Given the description of an element on the screen output the (x, y) to click on. 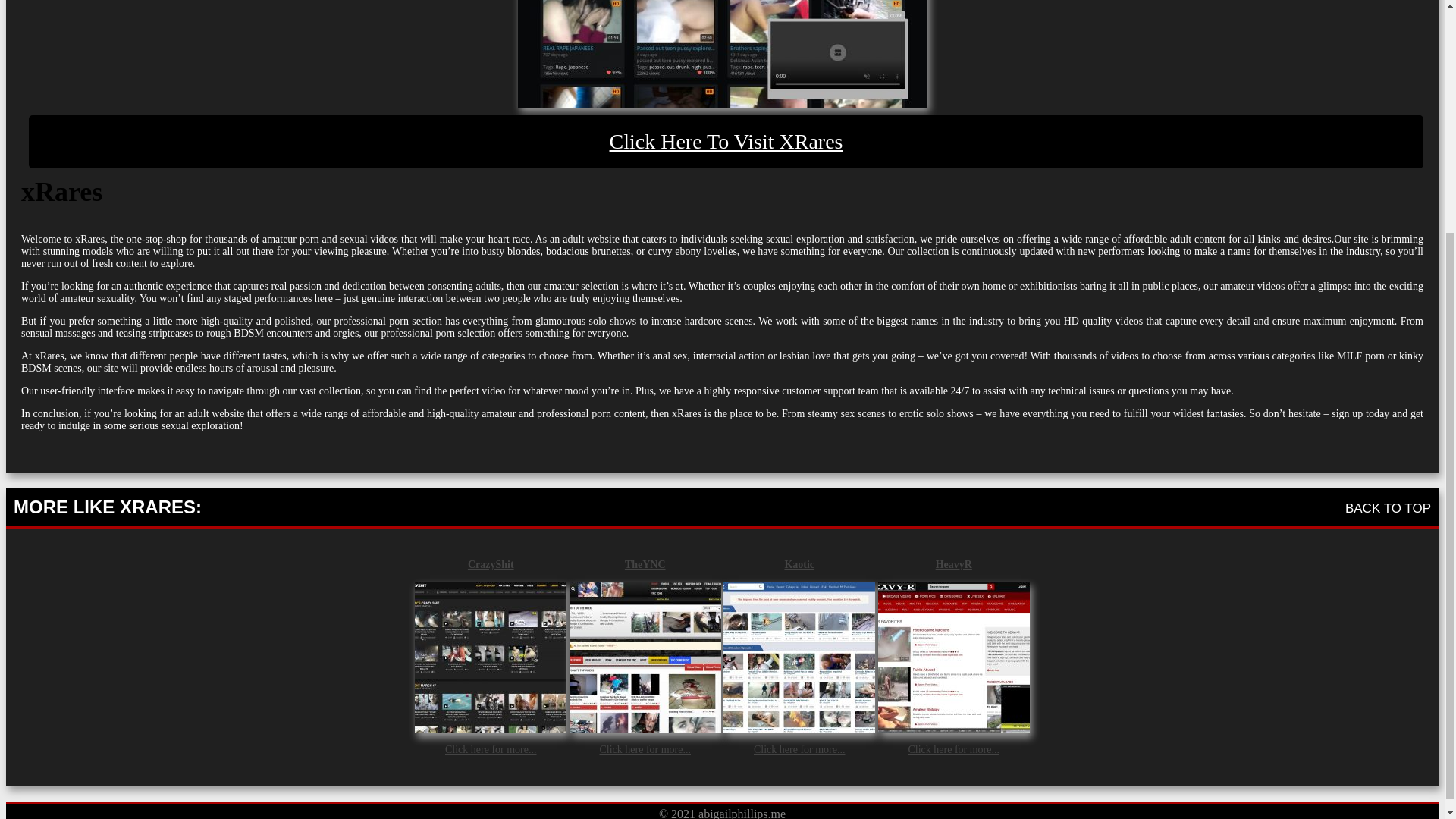
Click here for more... (952, 748)
Click here for more... (644, 748)
Kaotic (799, 563)
BACK TO TOP (1388, 507)
Click here for more... (491, 748)
xRares (721, 53)
Click Here To Visit XRares (726, 141)
xRares (726, 141)
CrazyShit (490, 563)
TheYNC (644, 563)
HeavyR (953, 563)
Click here for more... (799, 748)
